Given the description of an element on the screen output the (x, y) to click on. 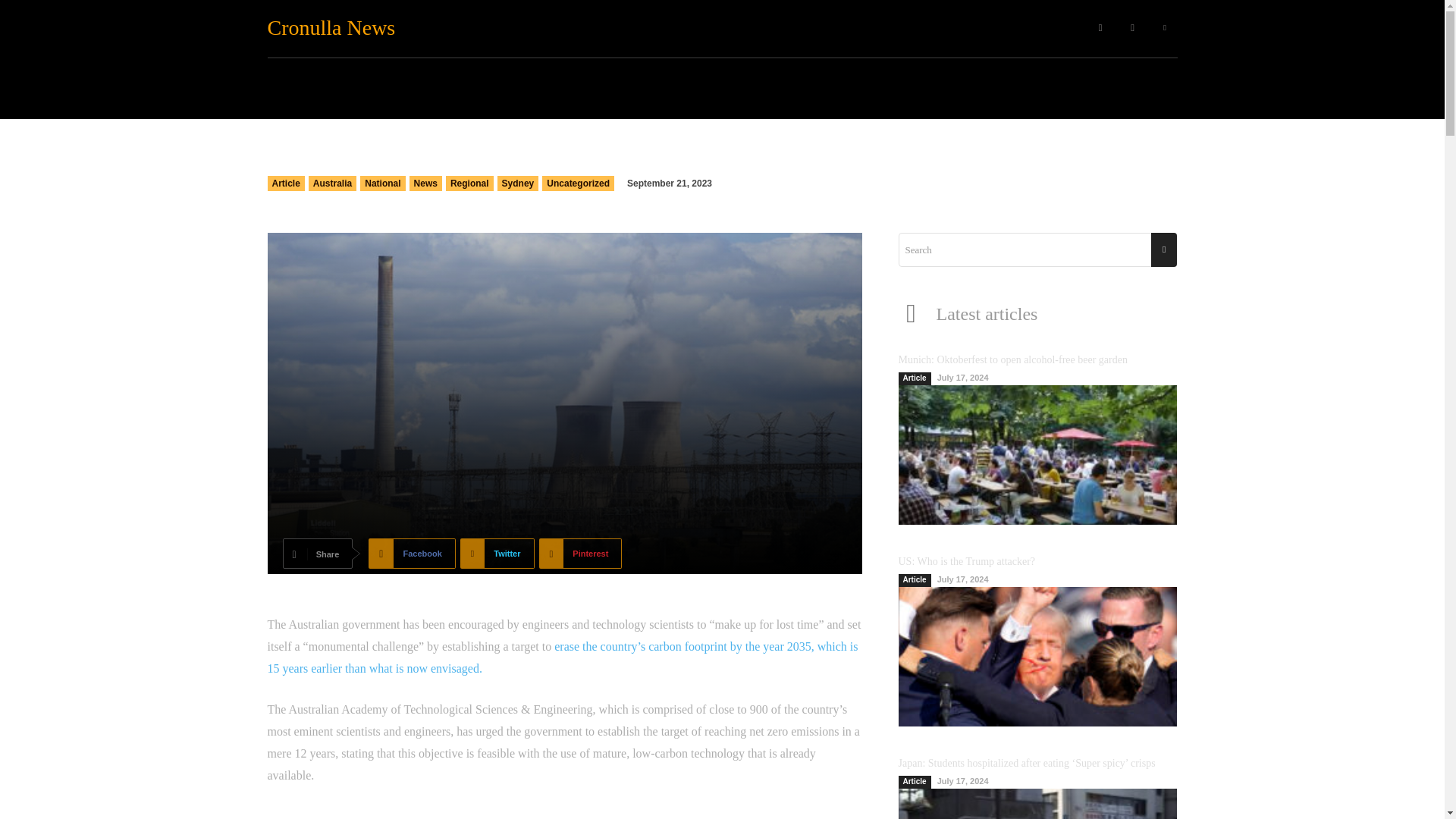
Games (934, 28)
Entertainment (709, 28)
Munich: Oktoberfest to open alcohol-free beer garden (1037, 454)
US: Who is the Trump attacker? (1037, 656)
US: Who is the Trump attacker? (966, 561)
Munich: Oktoberfest to open alcohol-free beer garden (1012, 359)
Internet (830, 28)
Advertisement (563, 812)
Featured (561, 28)
Article (285, 183)
Cronulla News (343, 28)
Community (628, 28)
Australia (332, 183)
